Given the description of an element on the screen output the (x, y) to click on. 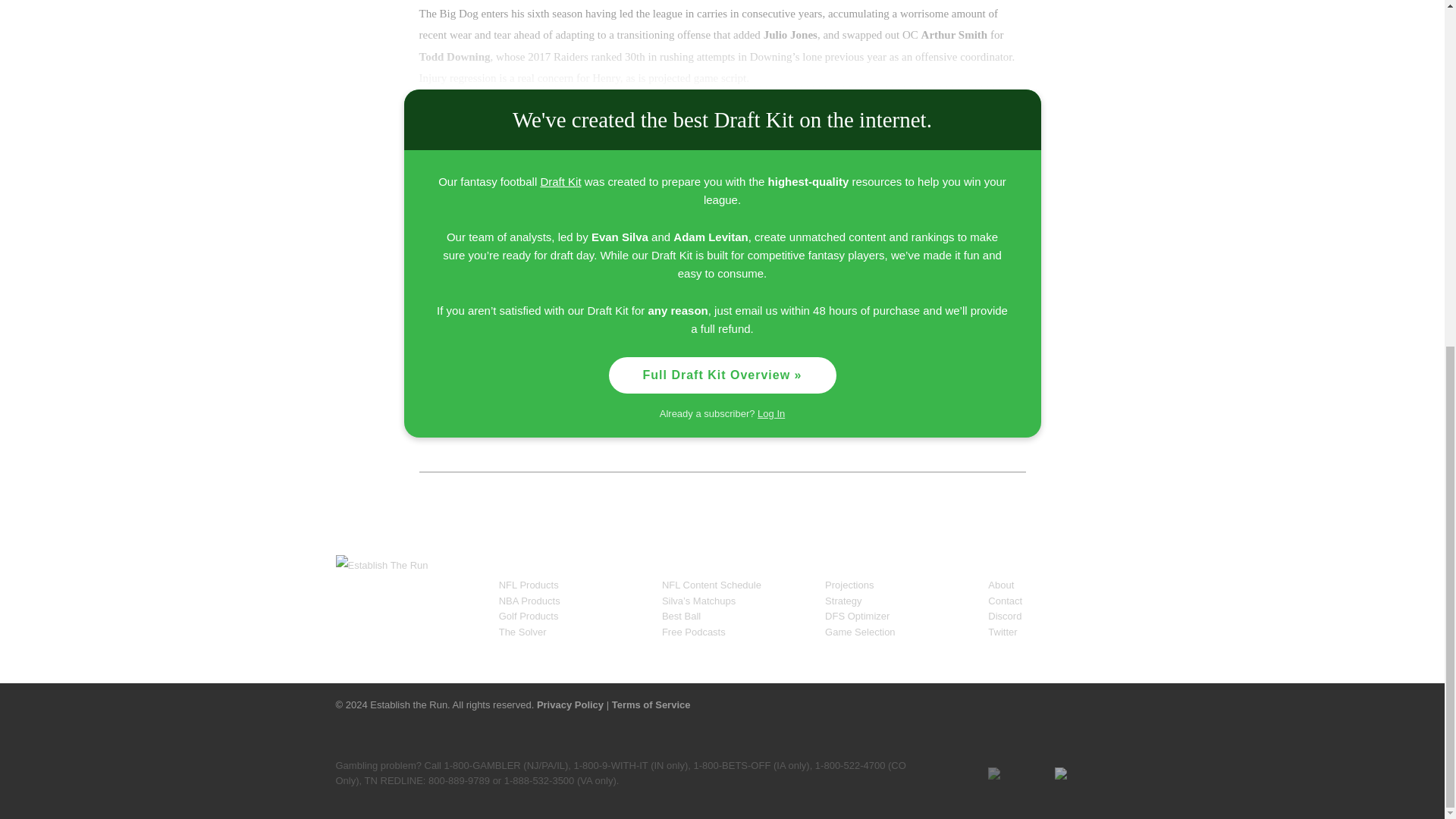
Sports Data API Solutions (1024, 701)
Sports Info Solutions (889, 701)
